Given the description of an element on the screen output the (x, y) to click on. 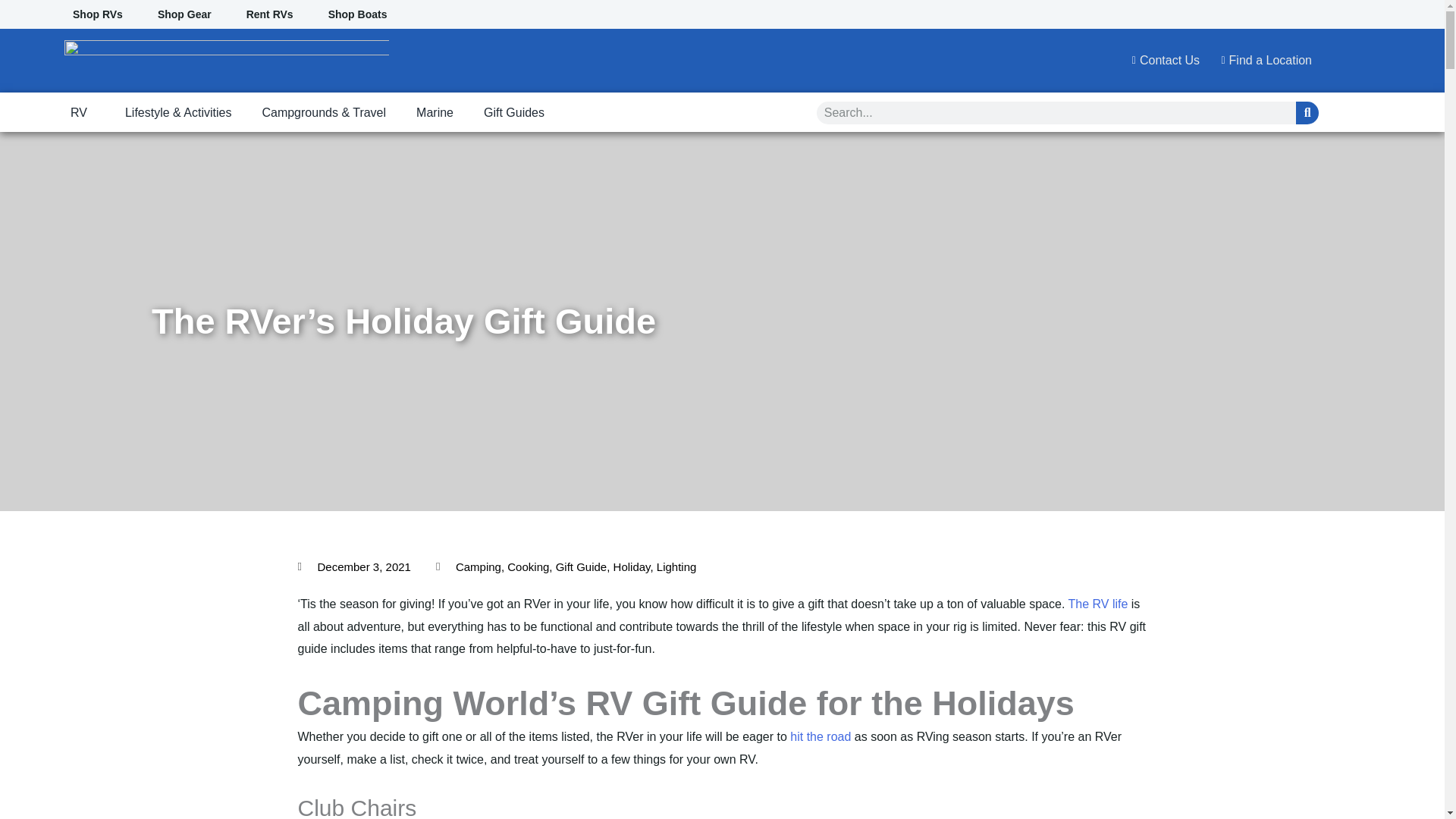
Rent RVs (269, 14)
Shop RVs (97, 14)
Contact Us (1160, 60)
Find a Location (1261, 60)
Shop Boats (357, 14)
Marine (434, 112)
RV (82, 112)
Shop Gear (183, 14)
